Given the description of an element on the screen output the (x, y) to click on. 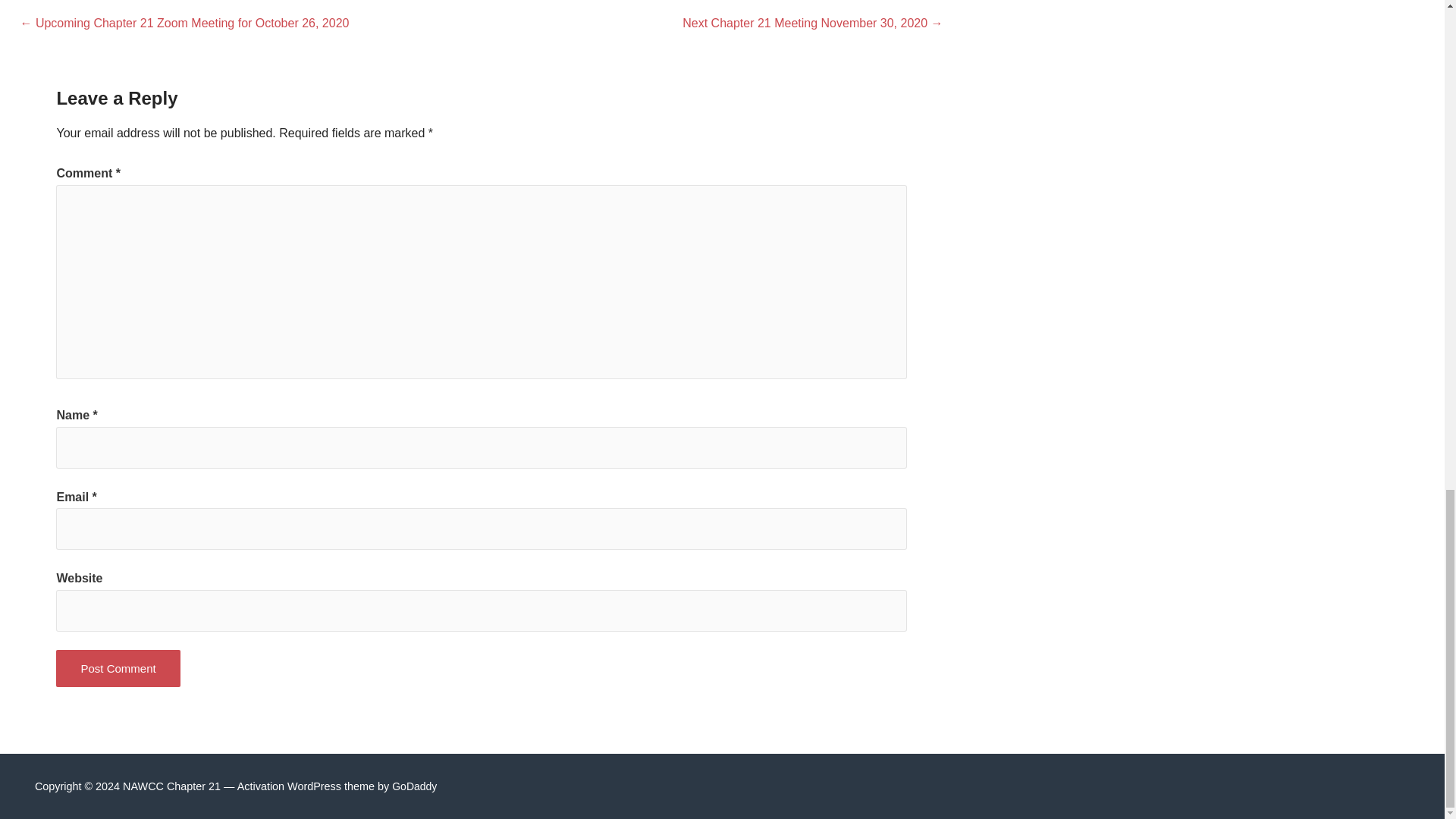
GoDaddy (413, 786)
Post Comment (117, 668)
Post Comment (117, 668)
